Given the description of an element on the screen output the (x, y) to click on. 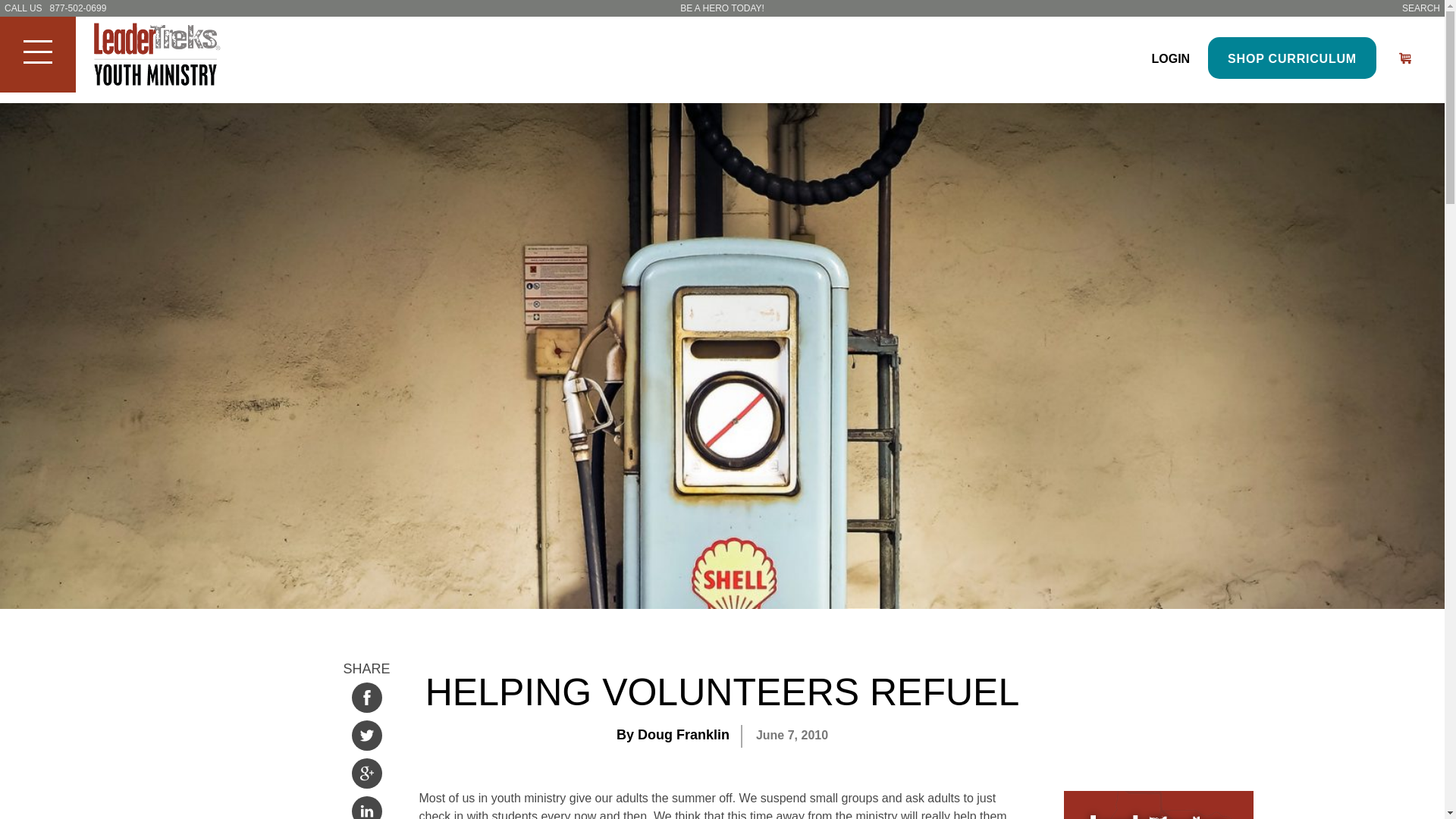
LOGIN (1170, 58)
LEADERTREKS YOUTH MINISTRY (168, 56)
BE A HERO TODAY! (721, 8)
SEARCH (1420, 8)
Doug Franklin (683, 734)
Search (8, 16)
SHOP CURRICULUM (1291, 57)
877-502-0699 (77, 8)
